Given the description of an element on the screen output the (x, y) to click on. 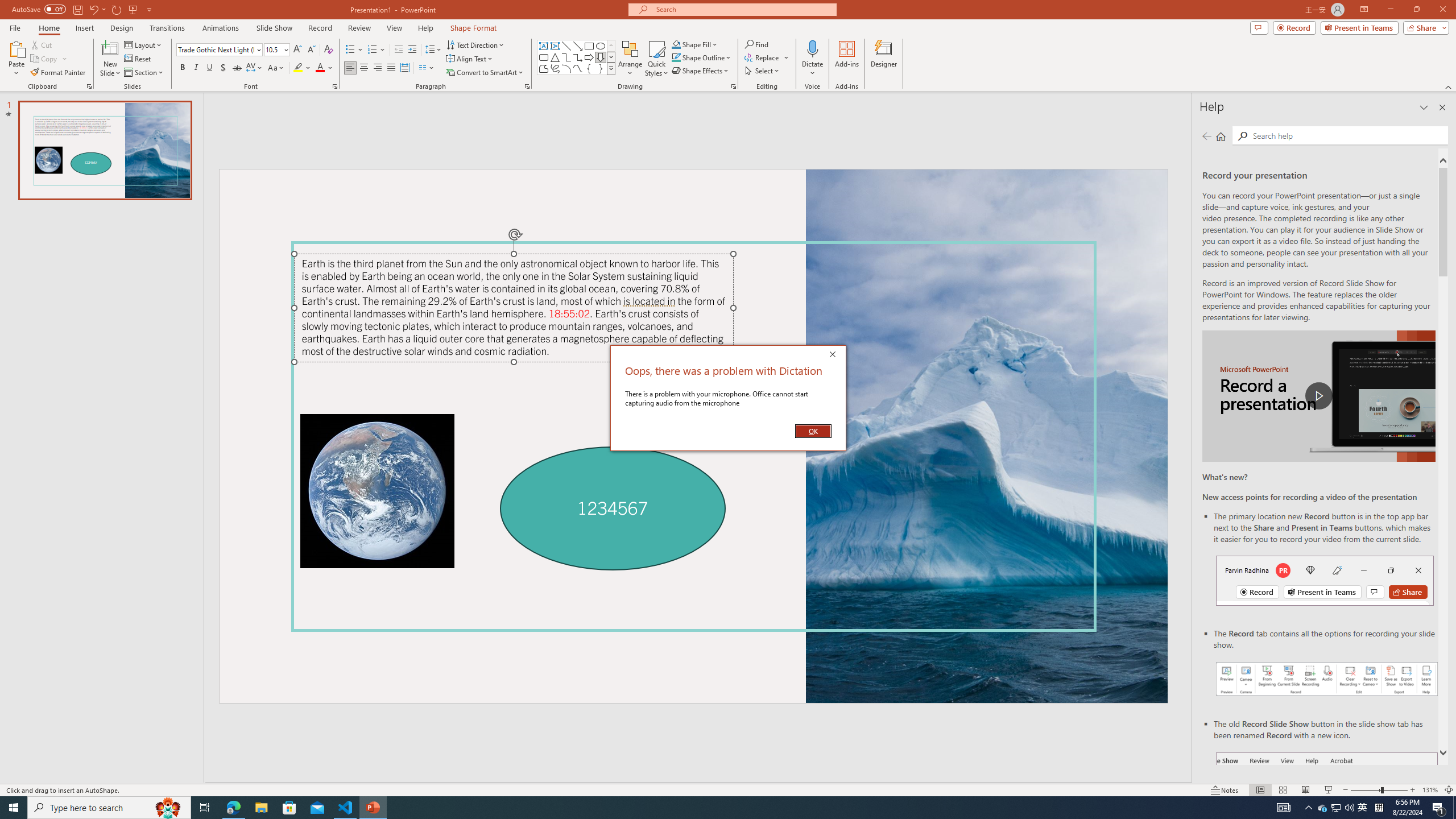
Help (425, 28)
Shape Outline Teal, Accent 1 (675, 56)
Shape Outline (701, 56)
Text Direction (476, 44)
Start (13, 807)
File Tab (15, 27)
Review (359, 28)
Open (285, 49)
Zoom Out (1365, 790)
Normal (1260, 790)
Font Size (273, 49)
Center (363, 67)
Arrow: Down (600, 57)
